Given the description of an element on the screen output the (x, y) to click on. 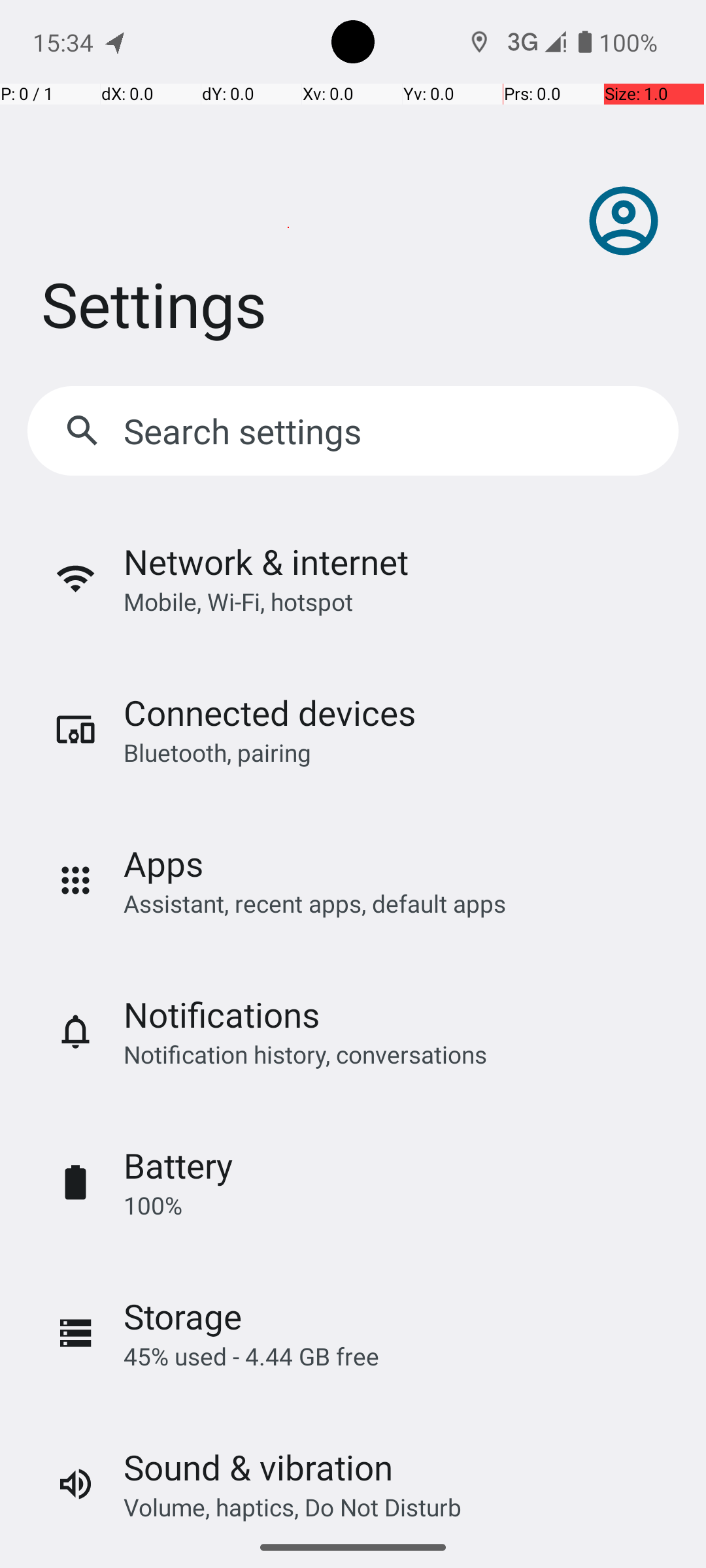
45% used - 4.44 GB free Element type: android.widget.TextView (251, 1355)
